Given the description of an element on the screen output the (x, y) to click on. 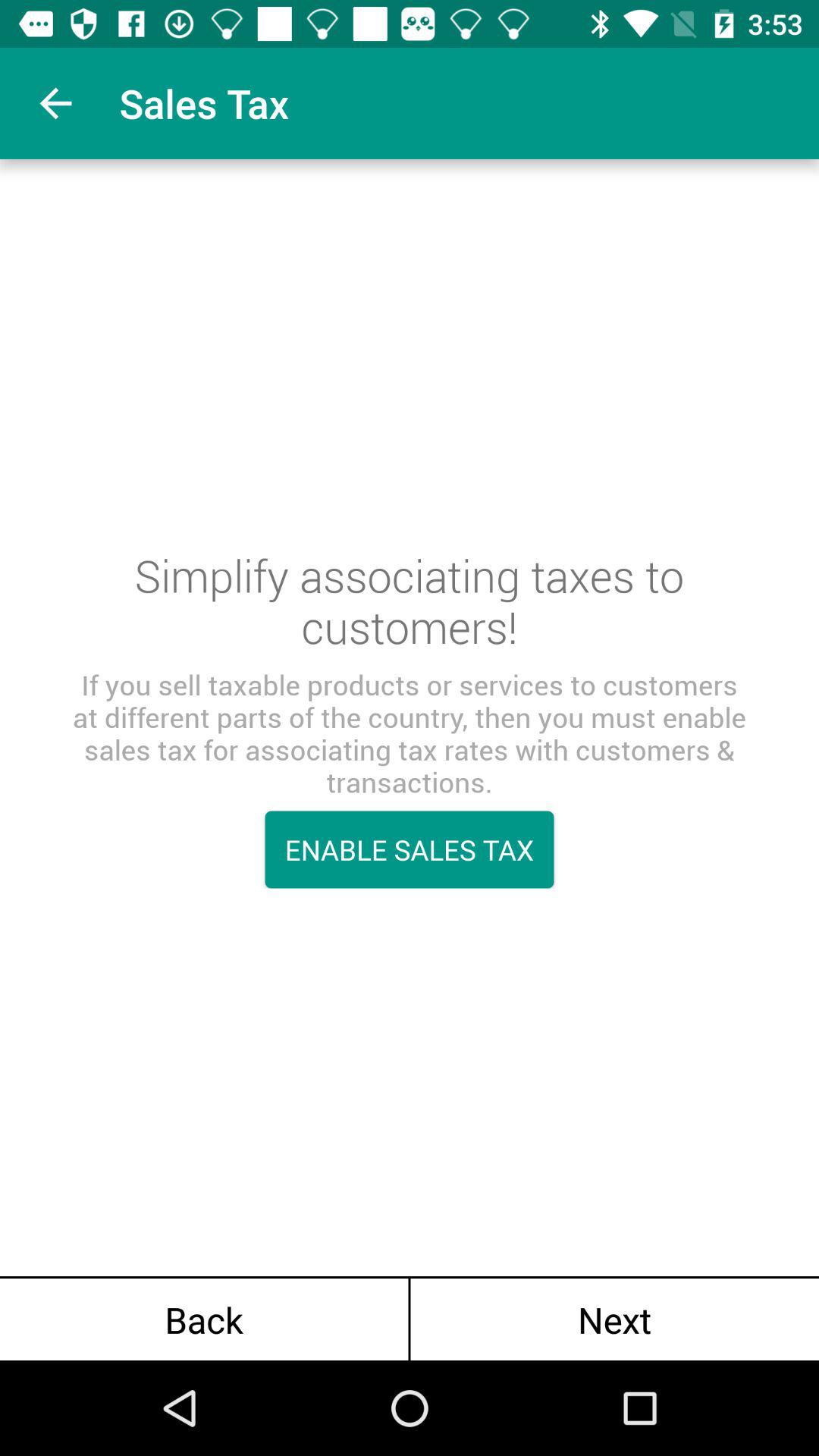
tap back at the bottom left corner (204, 1319)
